Given the description of an element on the screen output the (x, y) to click on. 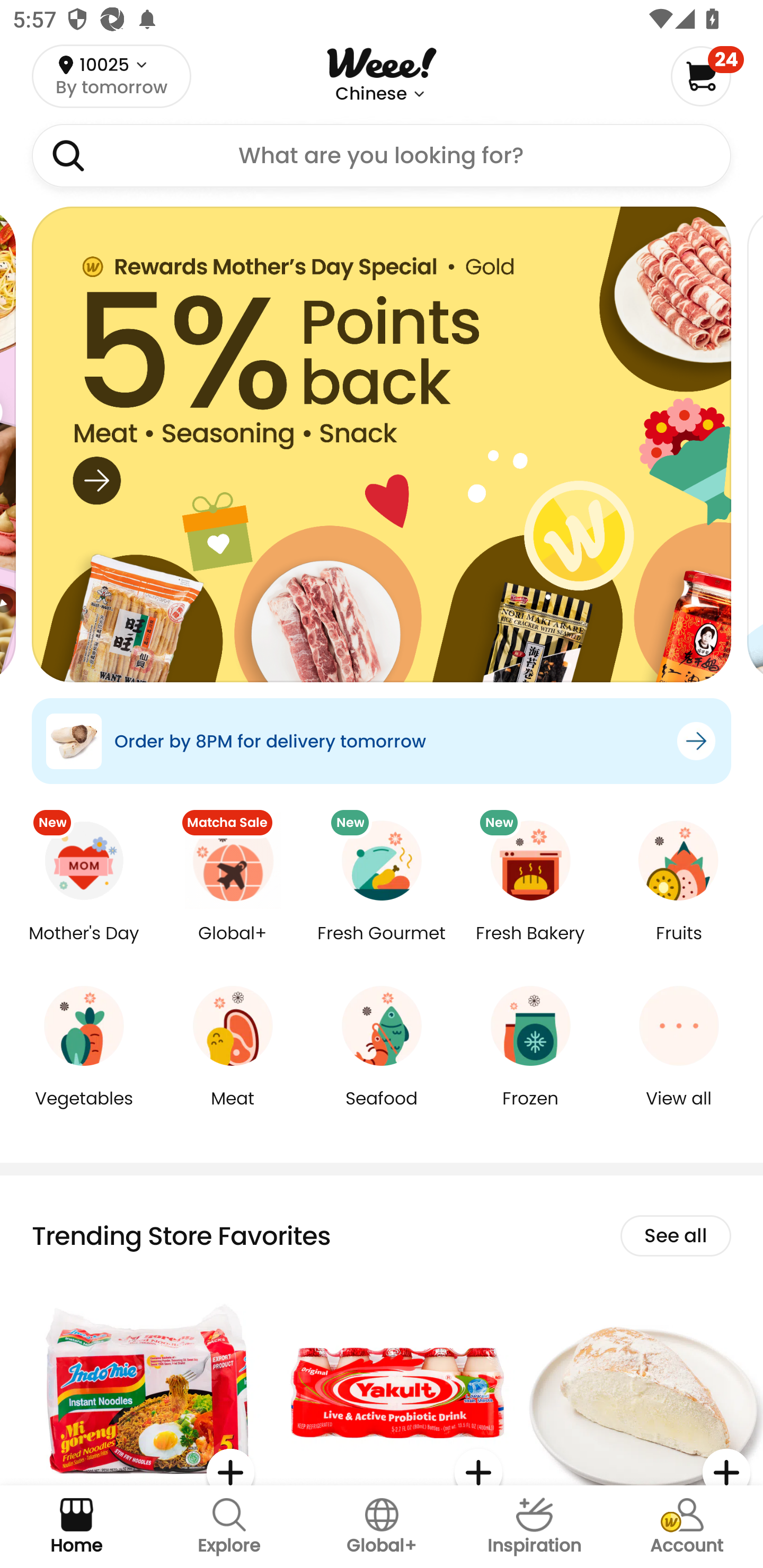
10025 By tomorrow (111, 75)
24 (706, 75)
Chinese (370, 93)
What are you looking for? (381, 155)
Order by 8PM for delivery tomorrow (381, 740)
Mother's Day (83, 946)
Global+ (232, 946)
Fresh Gourmet (381, 946)
Fresh Bakery (530, 946)
Fruits (678, 946)
Vegetables (83, 1111)
Meat (232, 1111)
Seafood (381, 1111)
Frozen (530, 1111)
View all (678, 1111)
Home (76, 1526)
Explore (228, 1526)
Global+ (381, 1526)
Inspiration (533, 1526)
Account (686, 1526)
